Given the description of an element on the screen output the (x, y) to click on. 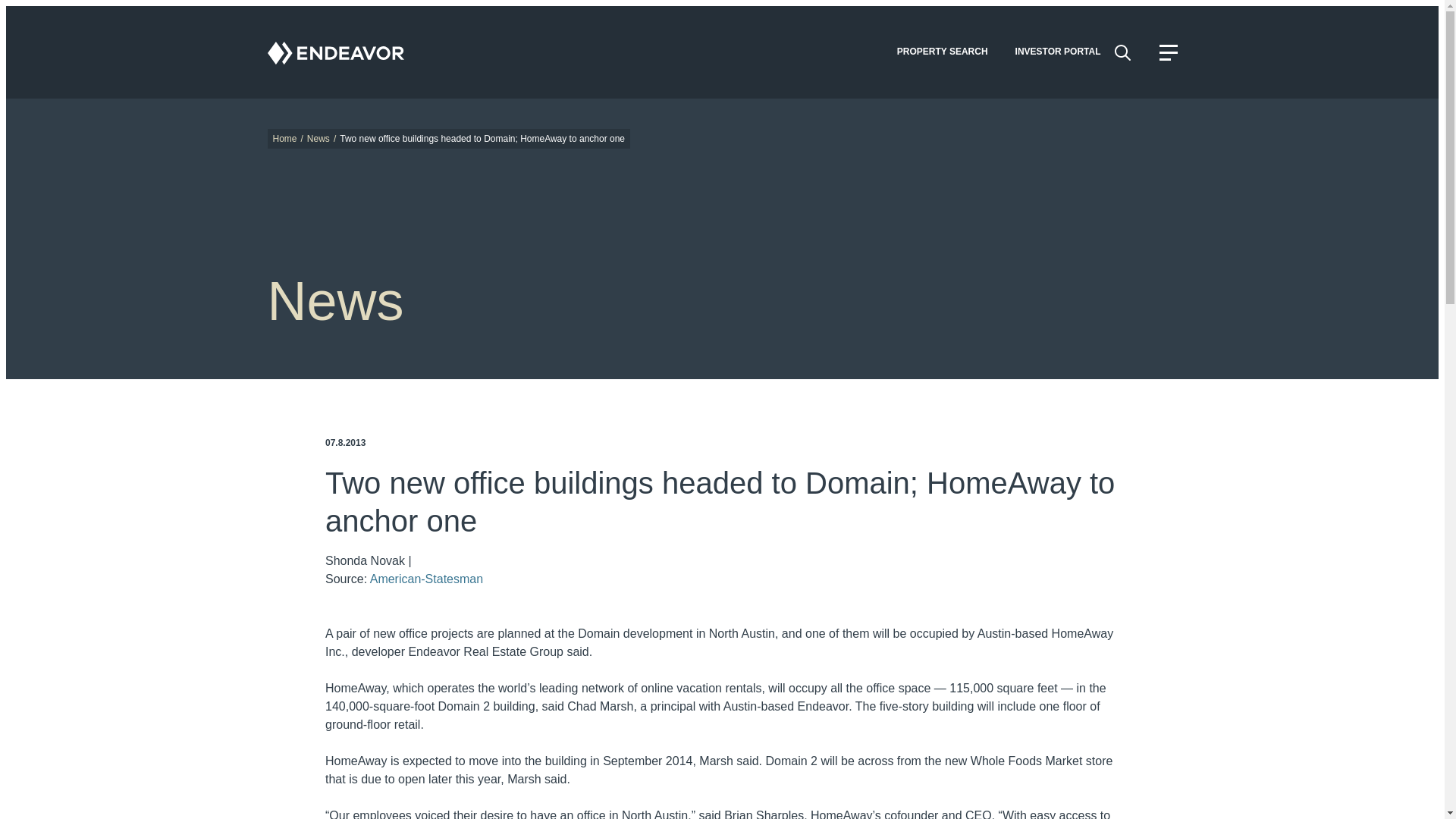
INVESTOR PORTAL (1058, 51)
Endeavor Real Estate Group (334, 51)
News (318, 138)
Go to Endeavor Real Estate Group. (285, 138)
Home (285, 138)
Go to News. (318, 138)
PROPERTY SEARCH (942, 51)
American-Statesman (426, 578)
